Given the description of an element on the screen output the (x, y) to click on. 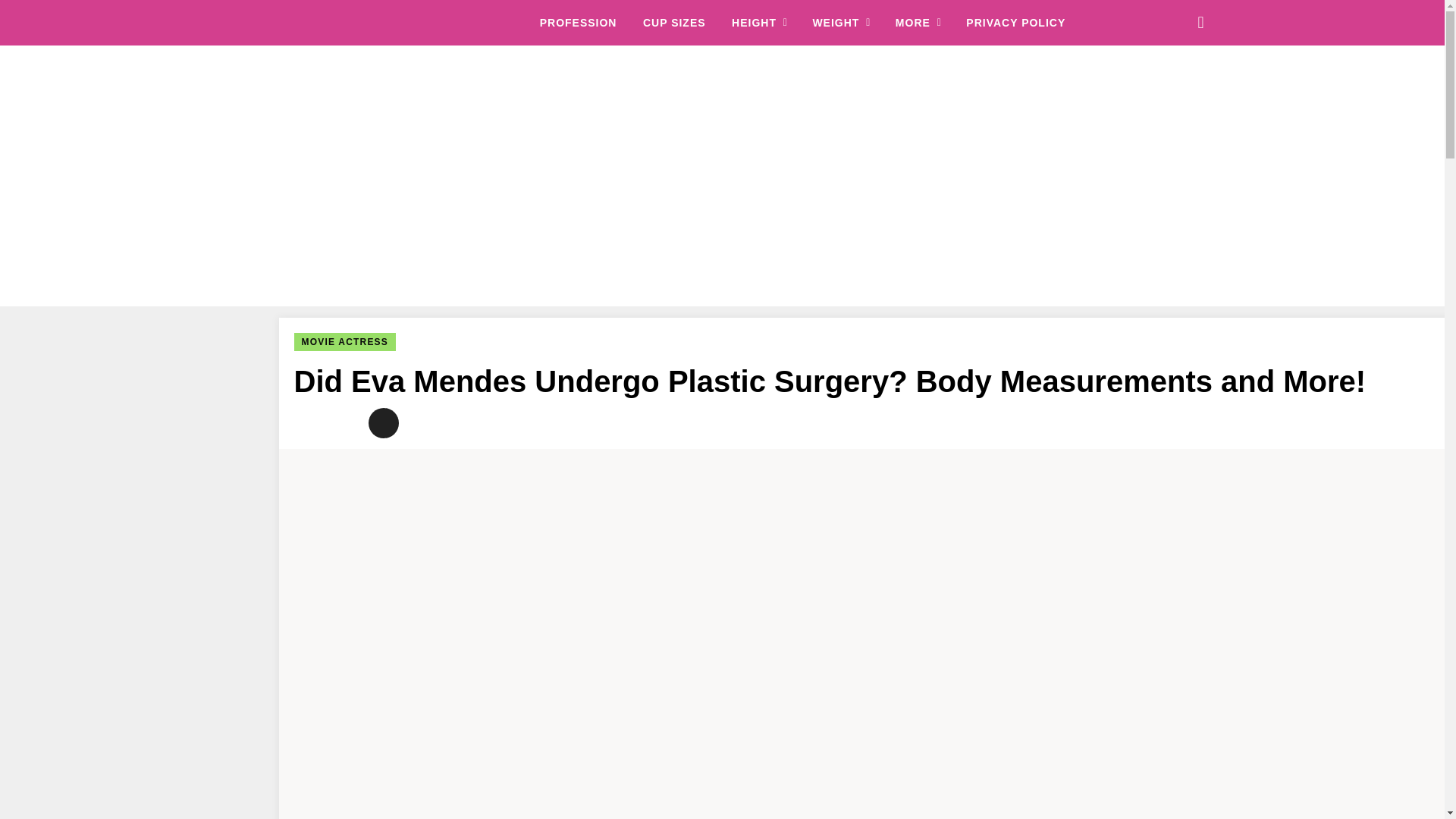
MORE (918, 22)
MOVIE ACTRESS (345, 341)
WEIGHT (841, 22)
PRIVACY POLICY (1015, 22)
Share on Pinterest (346, 422)
Share via Email (383, 422)
Share on Twitter (309, 422)
CUP SIZES (674, 22)
PROFESSION (578, 22)
HEIGHT (759, 22)
